Given the description of an element on the screen output the (x, y) to click on. 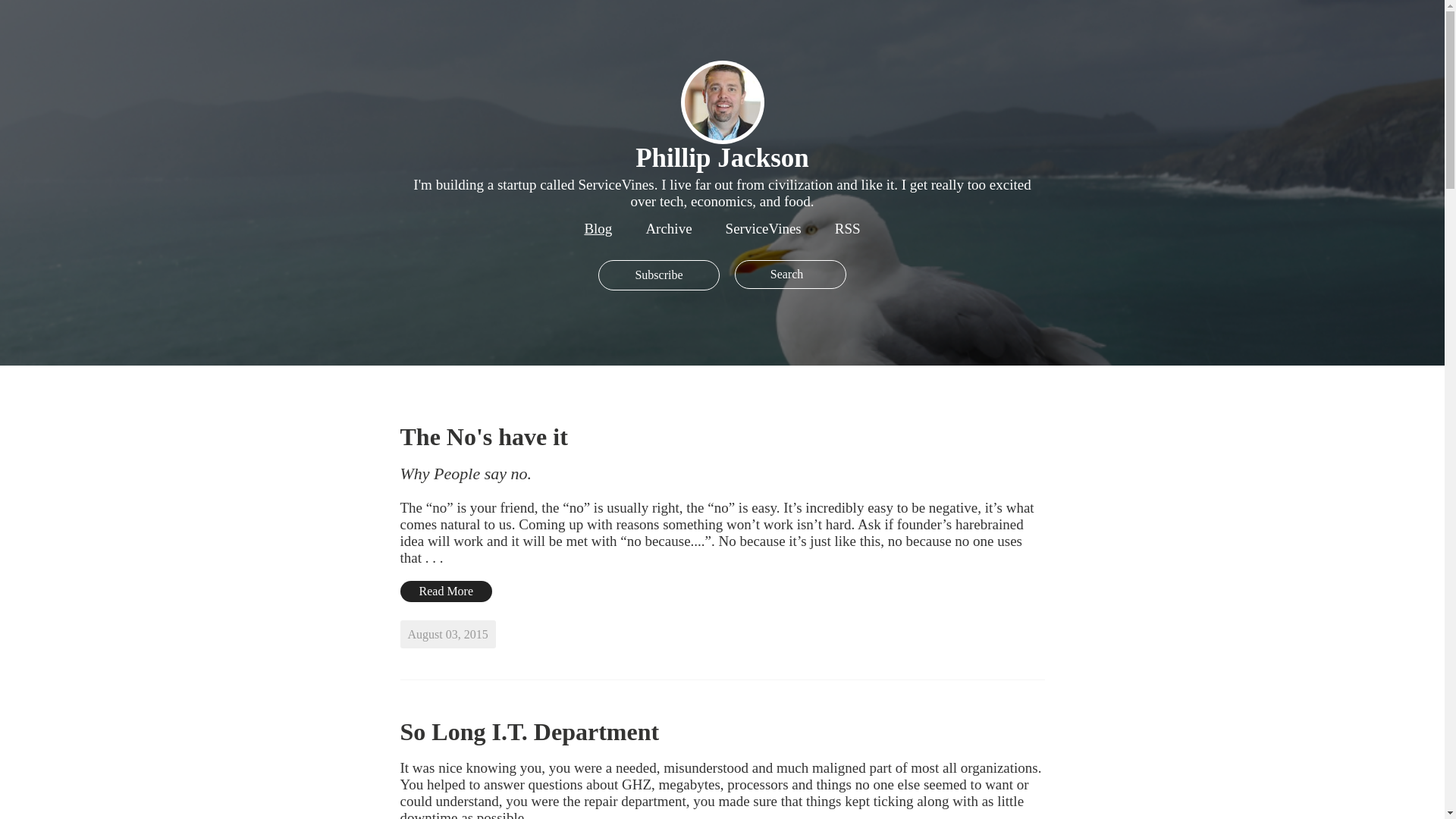
The No's have it (483, 436)
ServiceVines (763, 228)
Blog (597, 228)
So Long I.T. Department (529, 731)
Read More (446, 590)
Subscribe (658, 275)
Archive (668, 228)
RSS (847, 228)
